Given the description of an element on the screen output the (x, y) to click on. 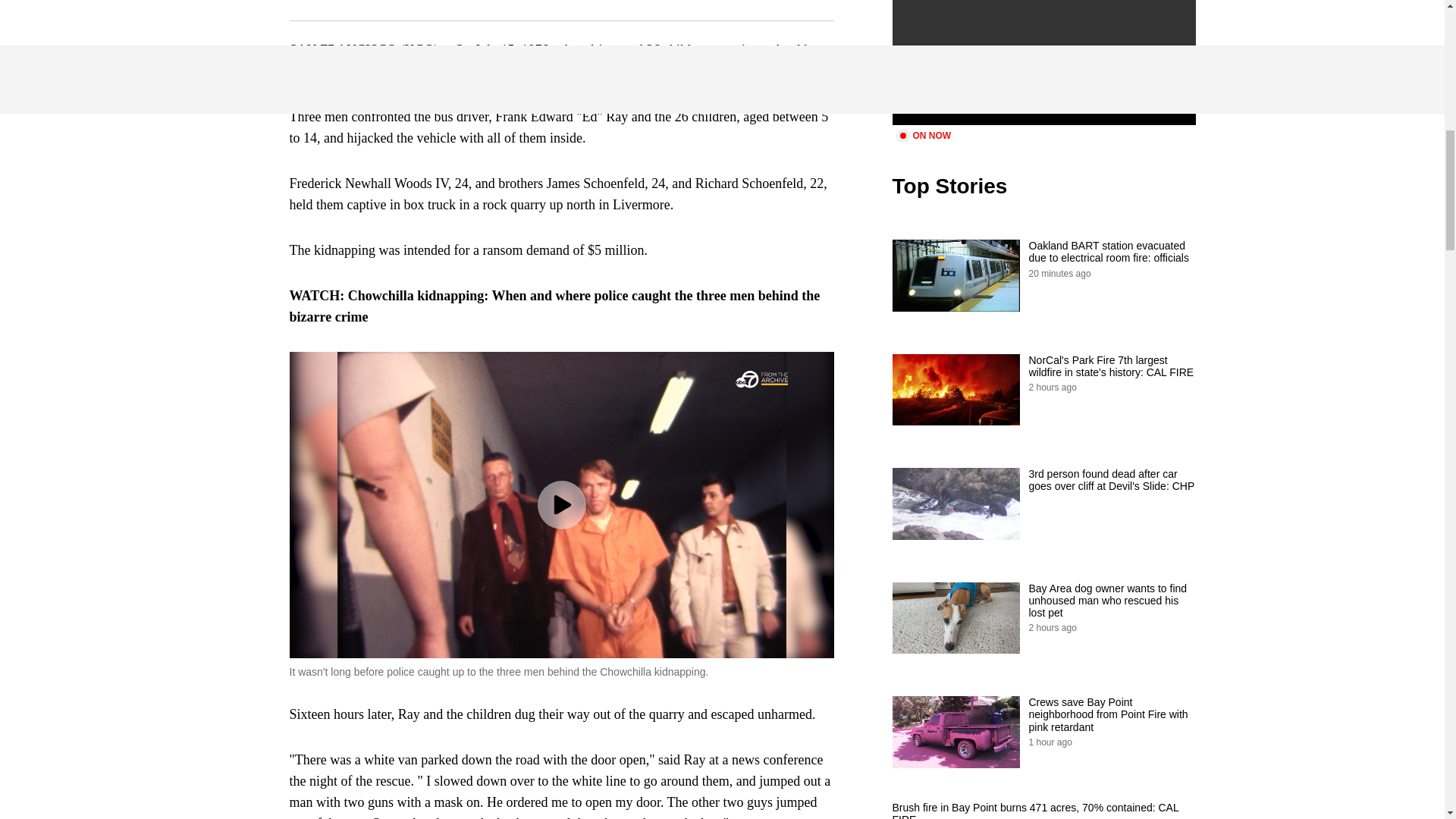
video.title (1043, 62)
